Given the description of an element on the screen output the (x, y) to click on. 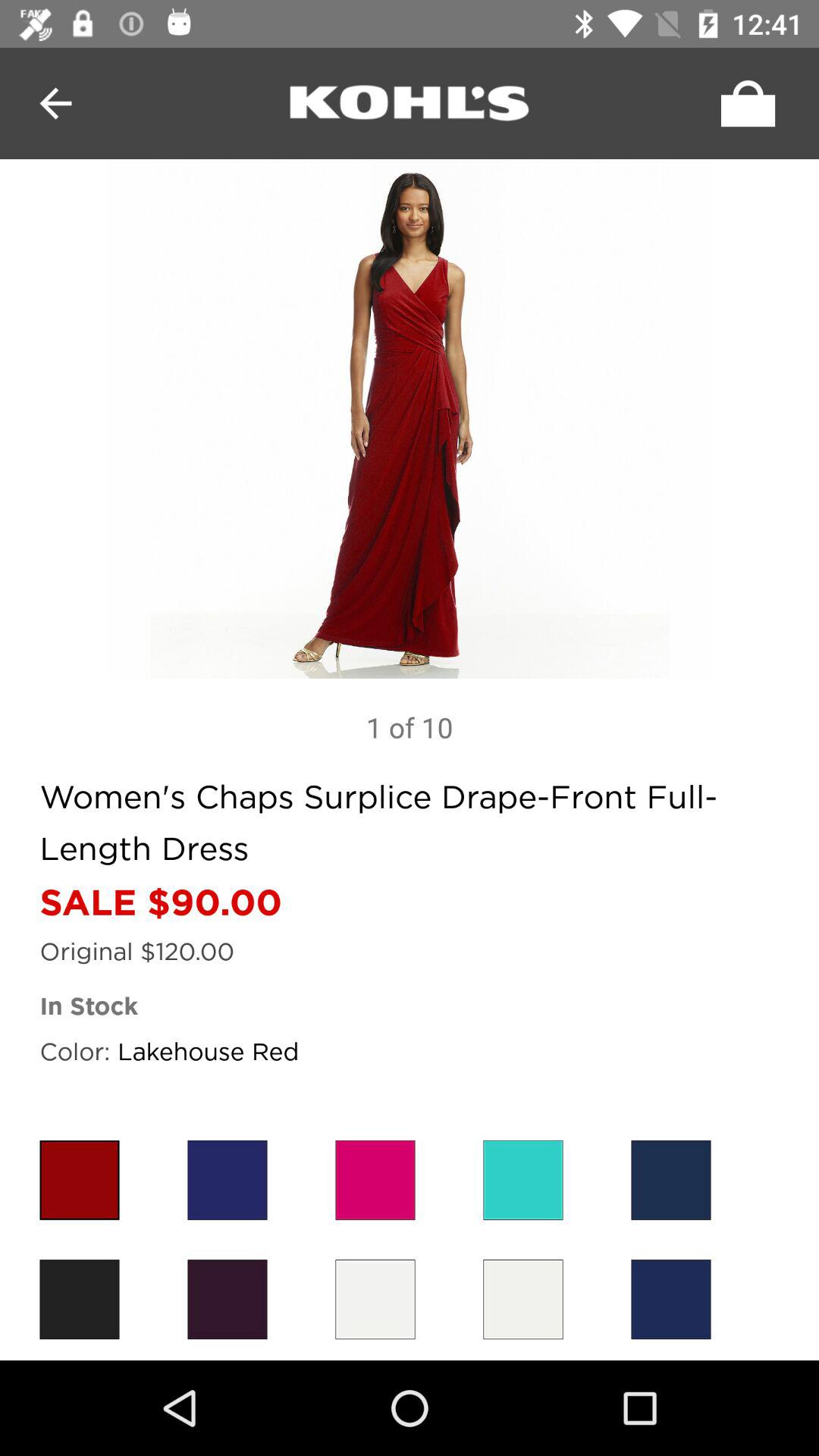
go to colour choosen (670, 1299)
